Given the description of an element on the screen output the (x, y) to click on. 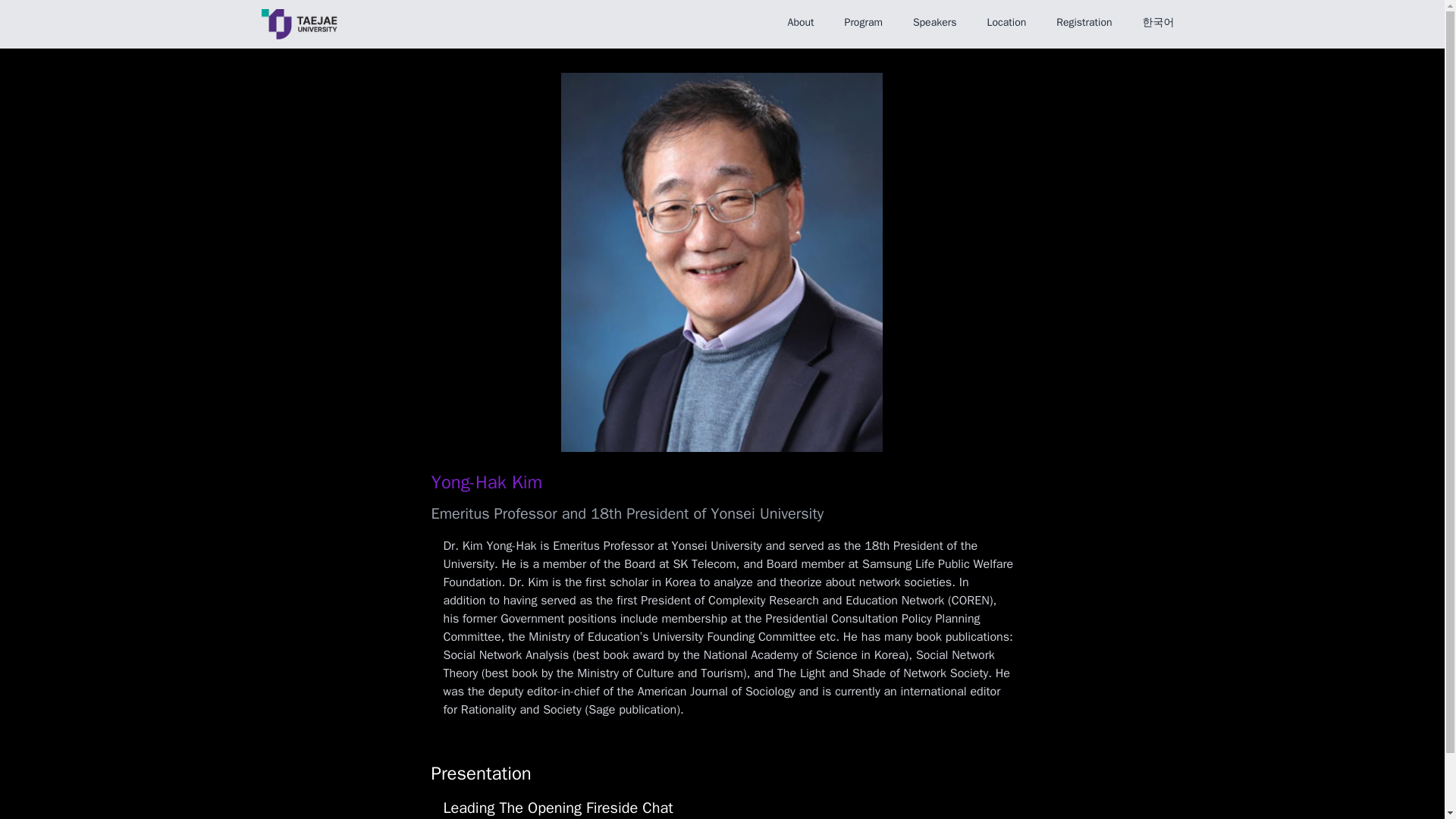
About (801, 22)
Registration (1083, 22)
Program (863, 22)
Speakers (935, 22)
Yong-Hak Kim (485, 481)
Location (1006, 22)
